Given the description of an element on the screen output the (x, y) to click on. 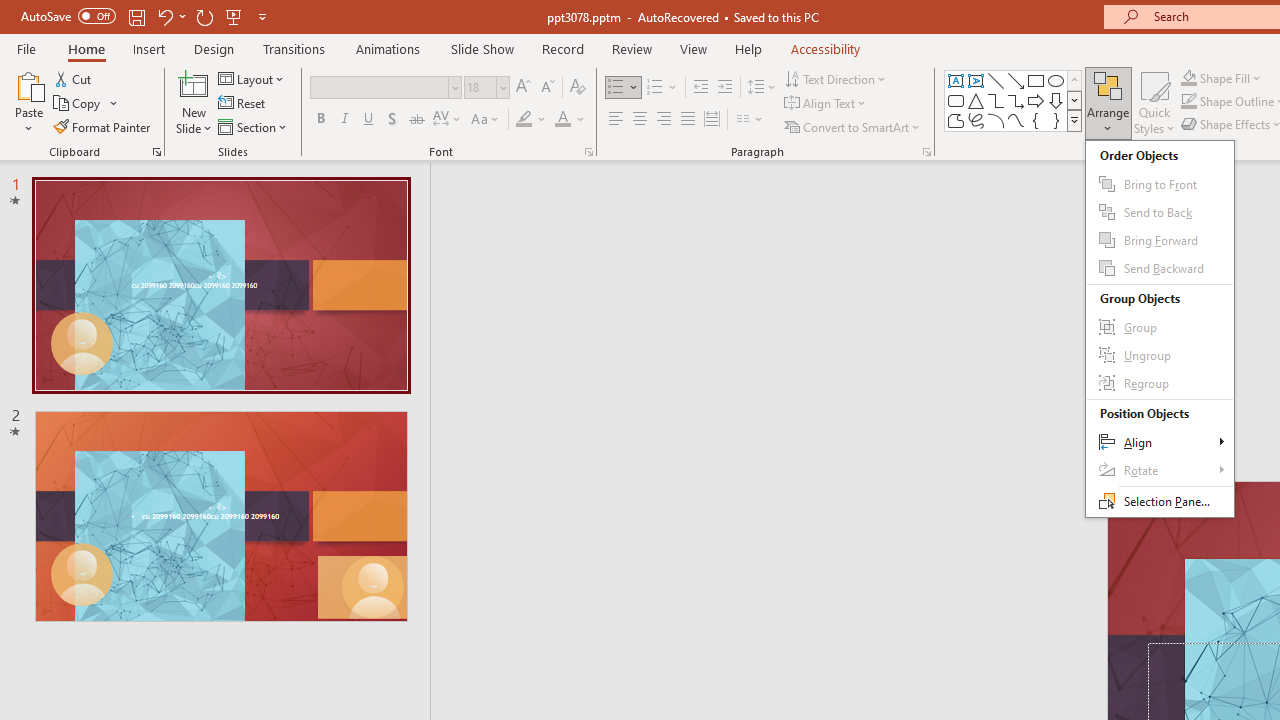
Shape Fill (1221, 78)
Font Color Red (562, 119)
Font Color (569, 119)
AutomationID: ShapesInsertGallery (1014, 100)
Arrange (1108, 102)
Font... (588, 151)
Right Brace (1055, 120)
Isosceles Triangle (975, 100)
Decrease Font Size (547, 87)
